Given the description of an element on the screen output the (x, y) to click on. 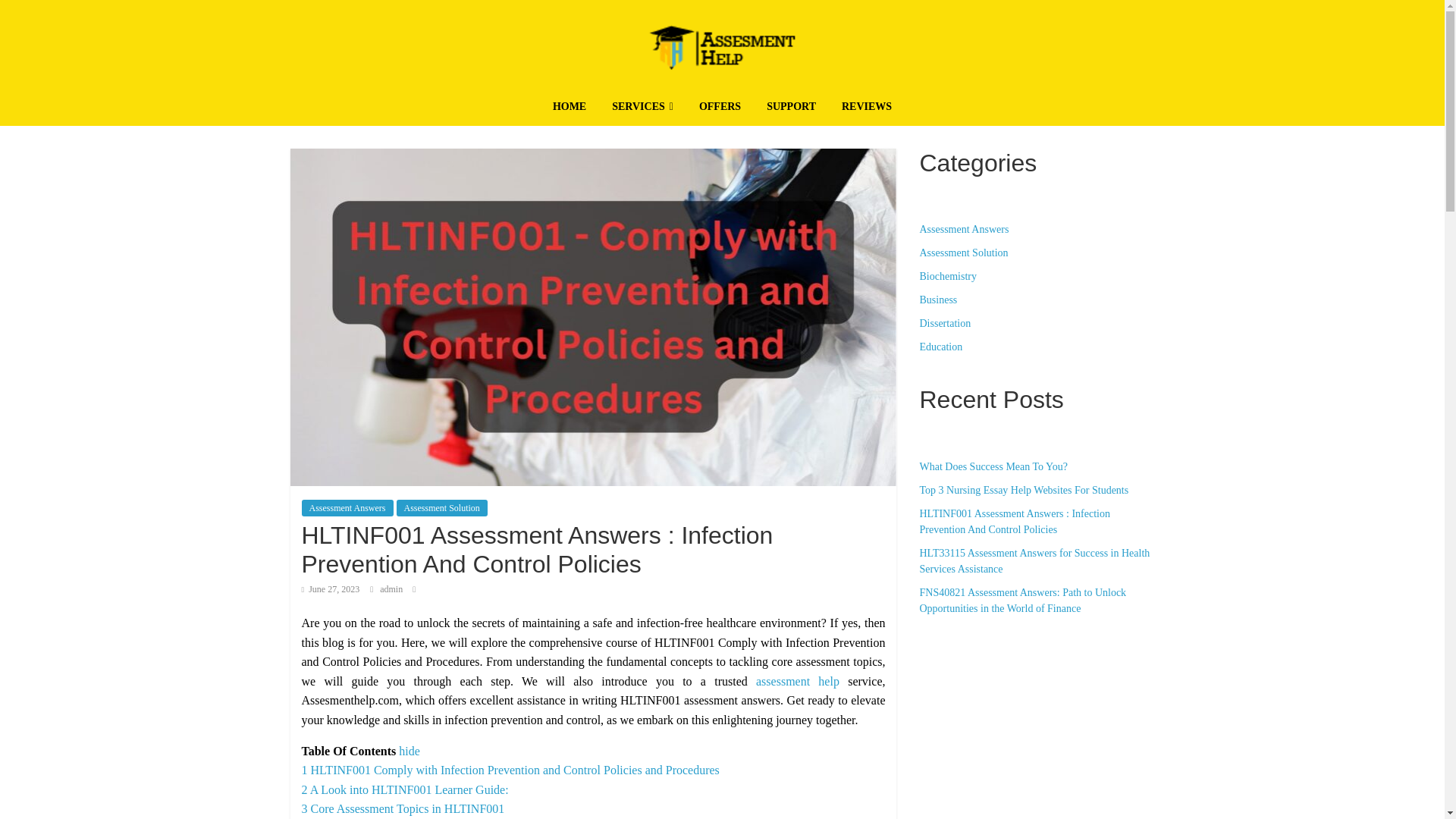
REVIEWS (866, 107)
2 A Look into HLTINF001 Learner Guide: (404, 789)
assessment help (797, 680)
admin (392, 588)
OFFERS (719, 107)
3 Core Assessment Topics in HLTINF001 (403, 808)
SUPPORT (791, 107)
Assessment Answers (347, 507)
HOME (569, 107)
